Given the description of an element on the screen output the (x, y) to click on. 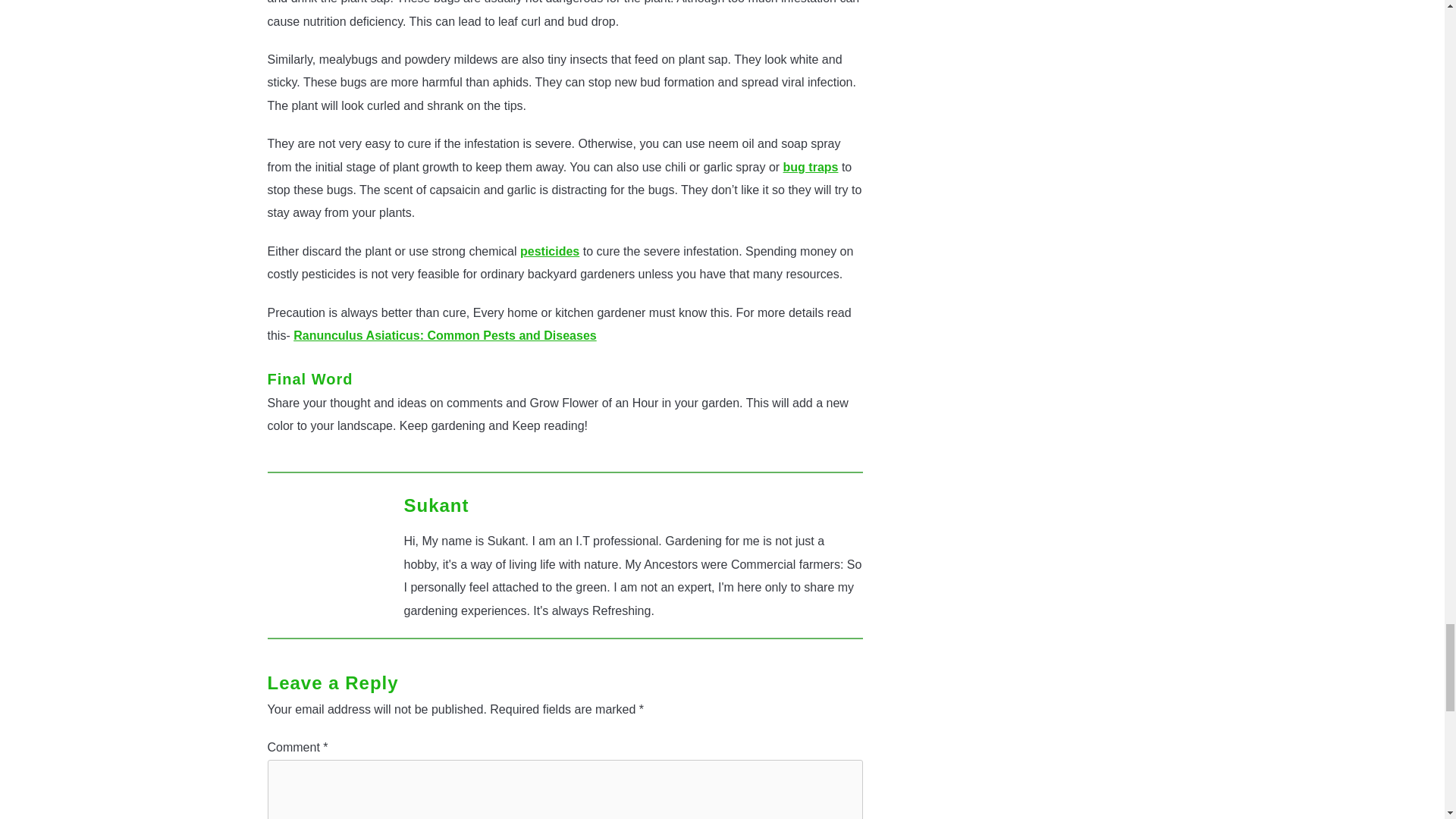
Ranunculus Asiaticus: Common Pests and Diseases (445, 335)
Sukant (435, 505)
pesticides (549, 250)
bug traps (810, 166)
